Given the description of an element on the screen output the (x, y) to click on. 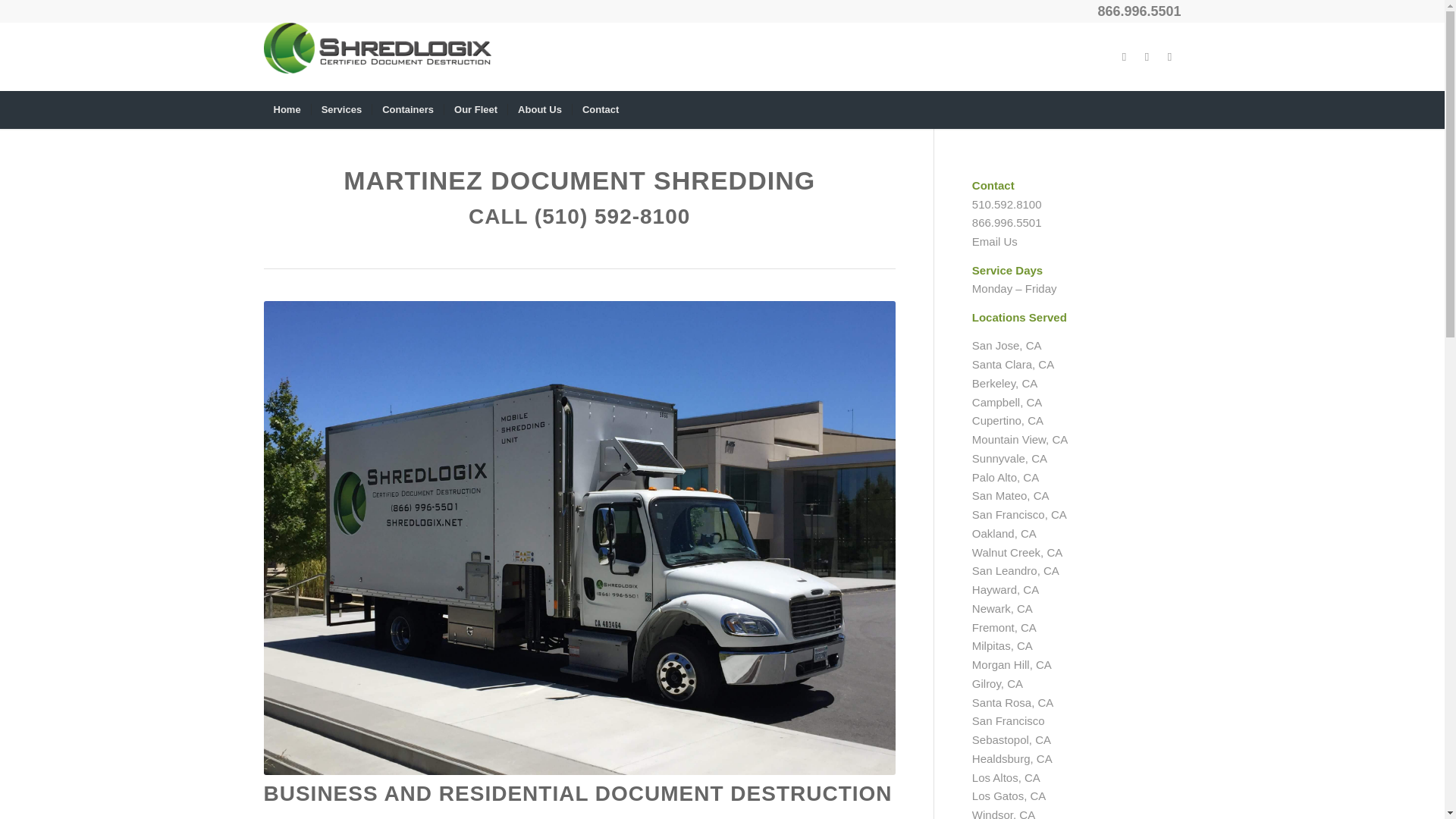
Containers (407, 109)
866.996.5501 (1138, 11)
Home (287, 109)
Services (341, 109)
Youtube (1146, 56)
Facebook (1124, 56)
Instagram (1169, 56)
